Given the description of an element on the screen output the (x, y) to click on. 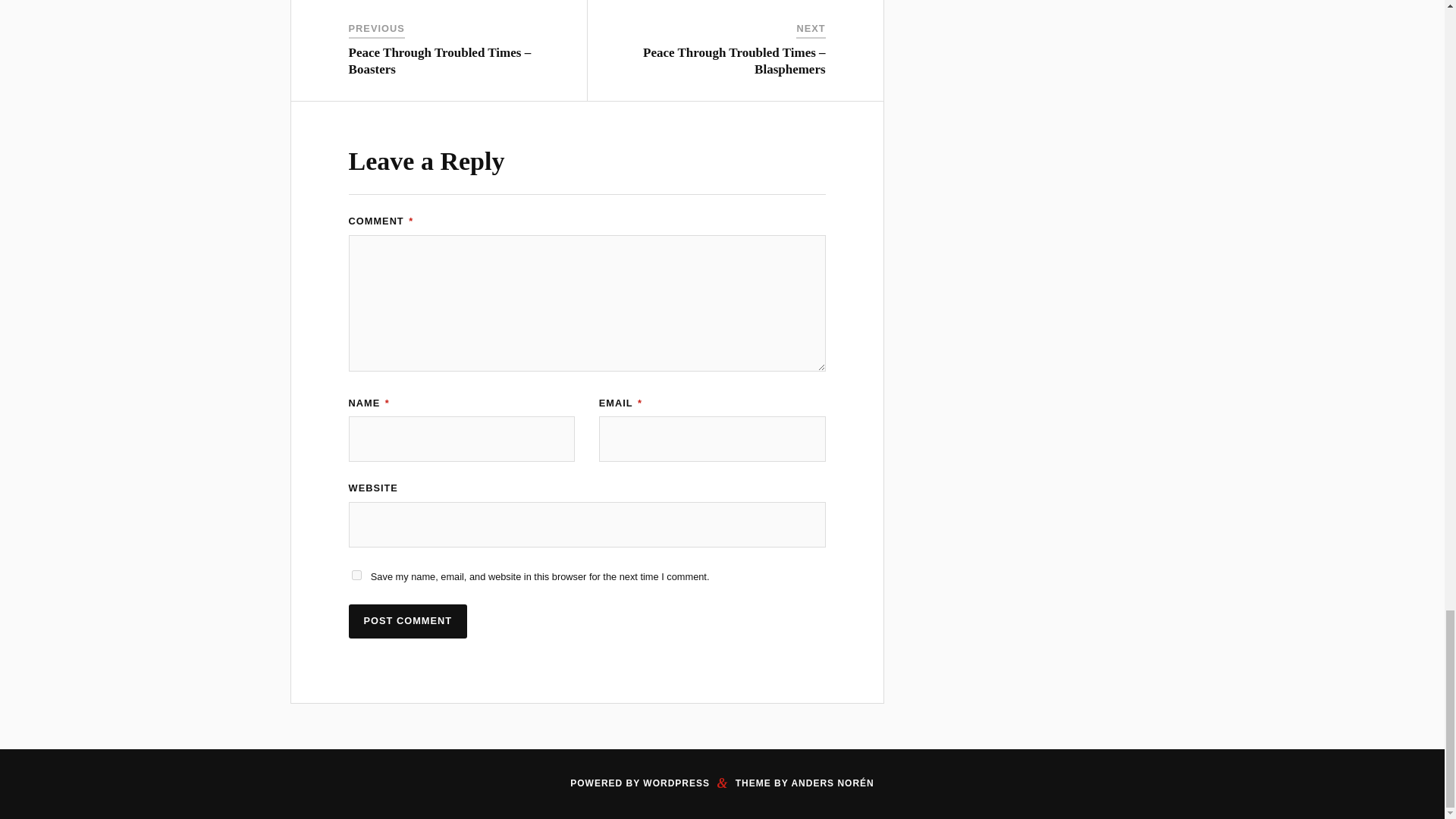
yes (356, 574)
Post Comment (408, 621)
Post Comment (408, 621)
